Given the description of an element on the screen output the (x, y) to click on. 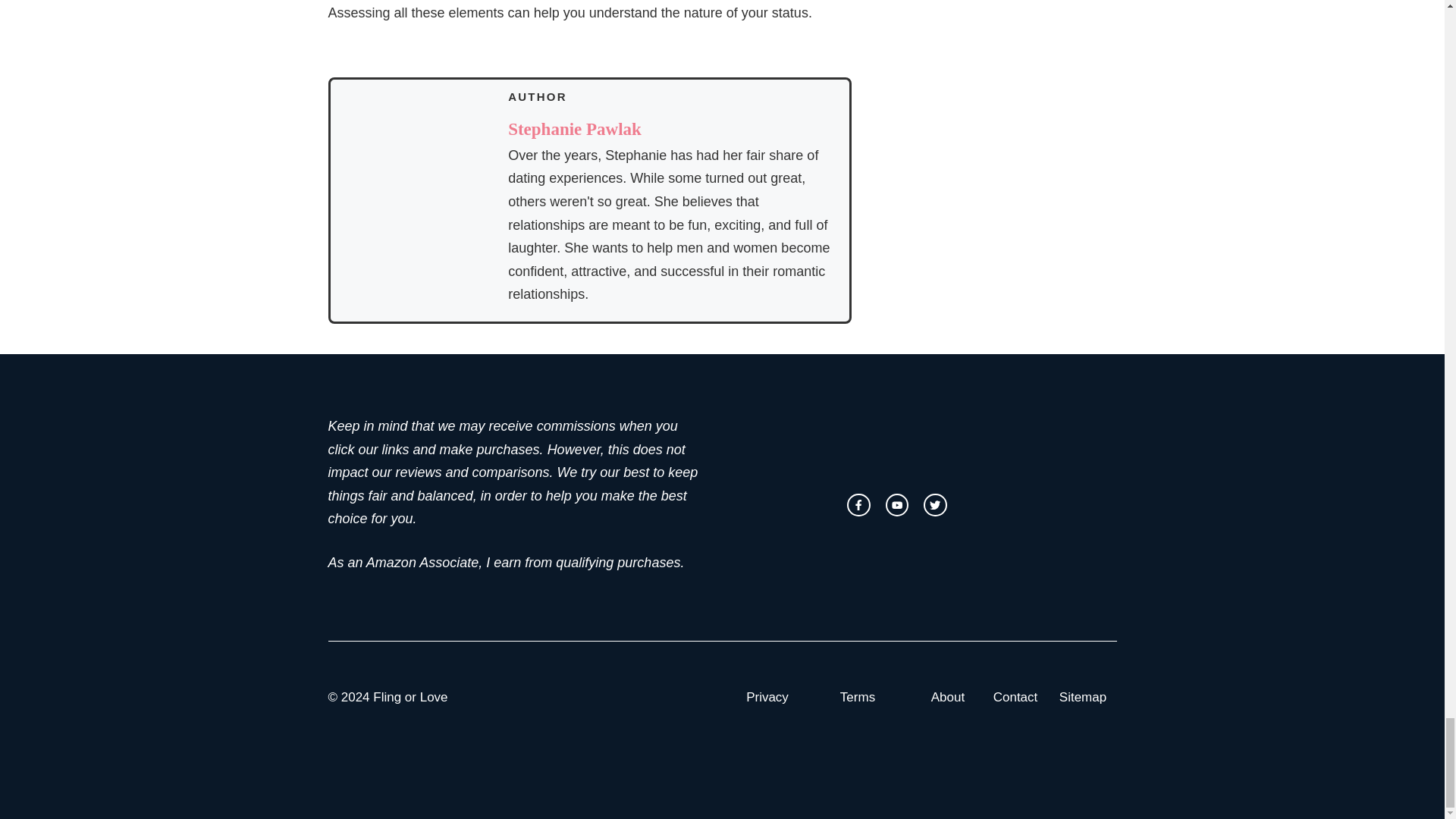
Stephanie Pawlak (575, 128)
